Given the description of an element on the screen output the (x, y) to click on. 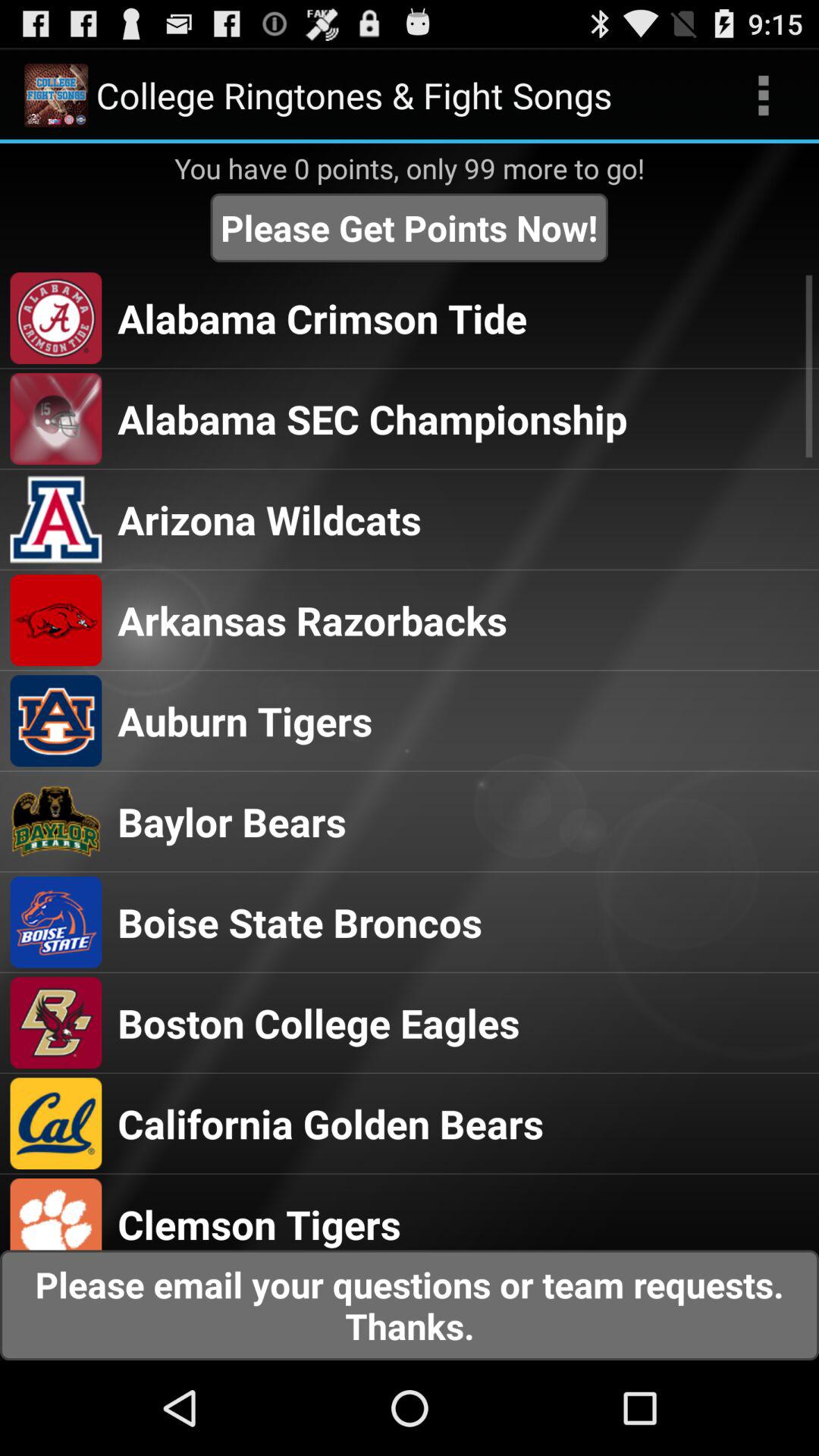
flip to california golden bears icon (330, 1123)
